Given the description of an element on the screen output the (x, y) to click on. 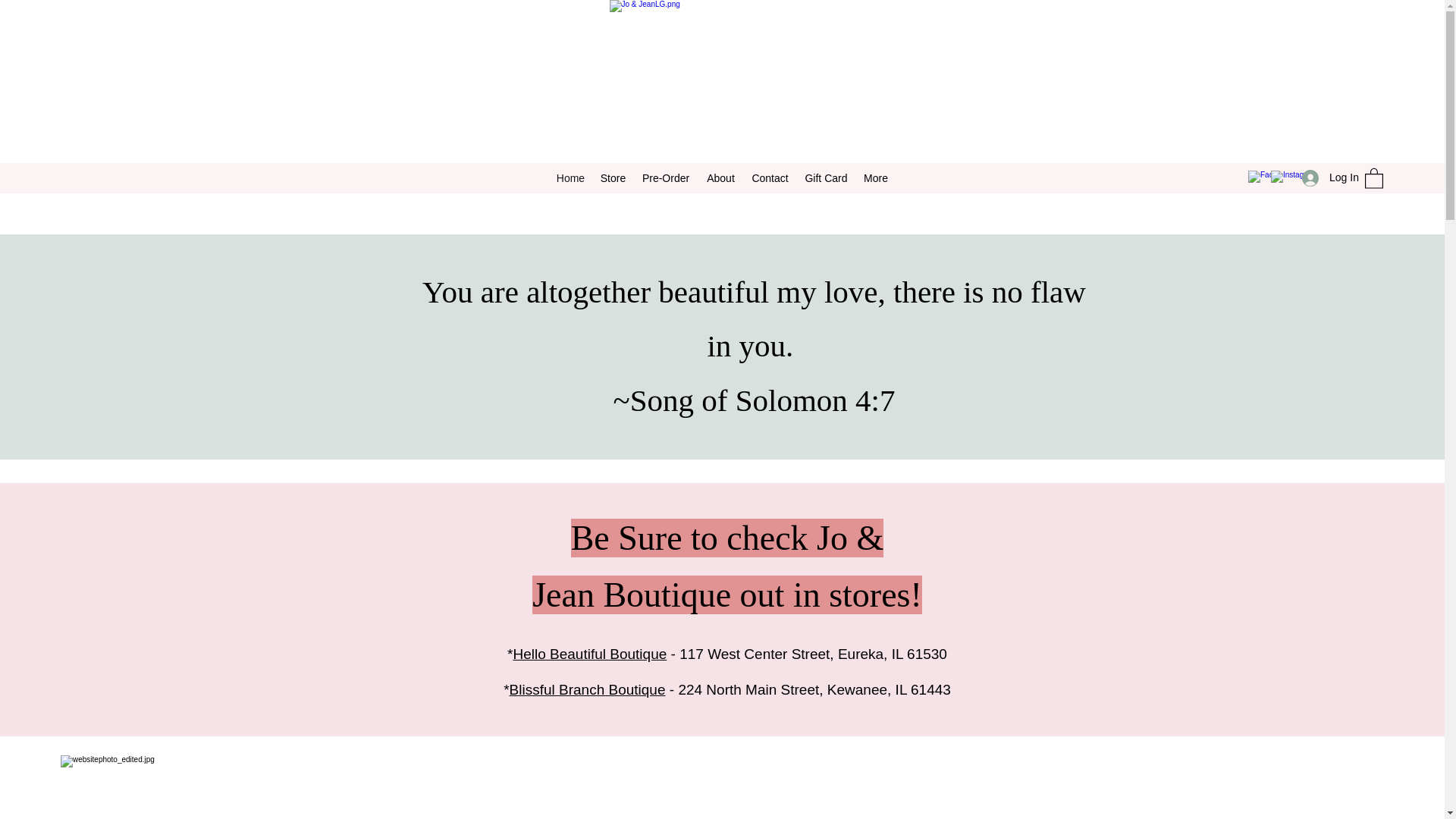
About (719, 178)
Hello Beautiful Boutique (589, 653)
Store (612, 178)
Home (570, 178)
Blissful Branch Boutique (587, 689)
Log In (1325, 177)
Contact (769, 178)
Pre-Order (665, 178)
Gift Card (826, 178)
